Given the description of an element on the screen output the (x, y) to click on. 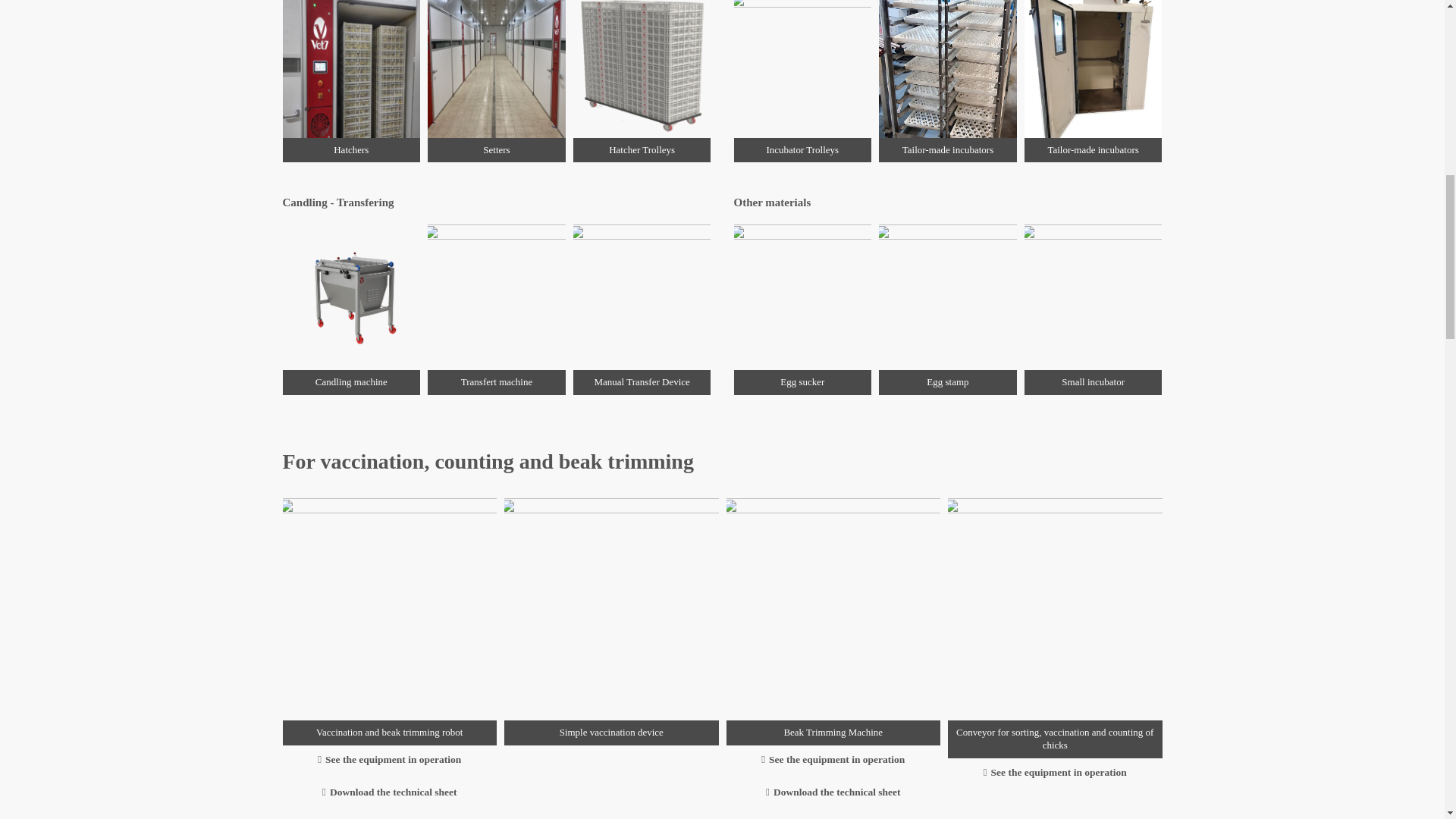
Download the technical sheet (833, 792)
Download the technical sheet (389, 792)
See the equipment in operation (832, 759)
See the equipment in operation (1055, 772)
See the equipment in operation (389, 759)
